Given the description of an element on the screen output the (x, y) to click on. 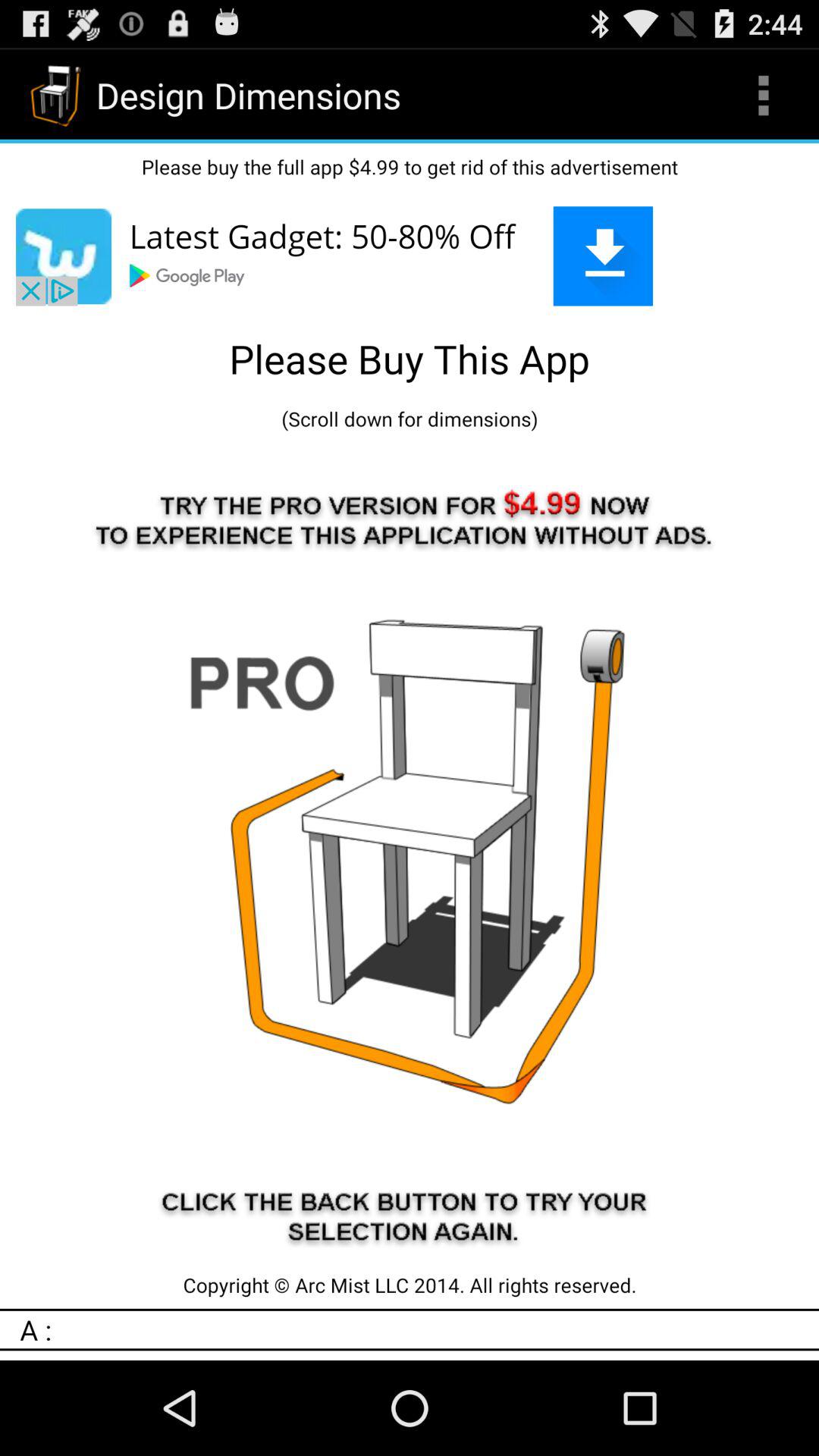
choose the item below please buy this icon (409, 418)
